Given the description of an element on the screen output the (x, y) to click on. 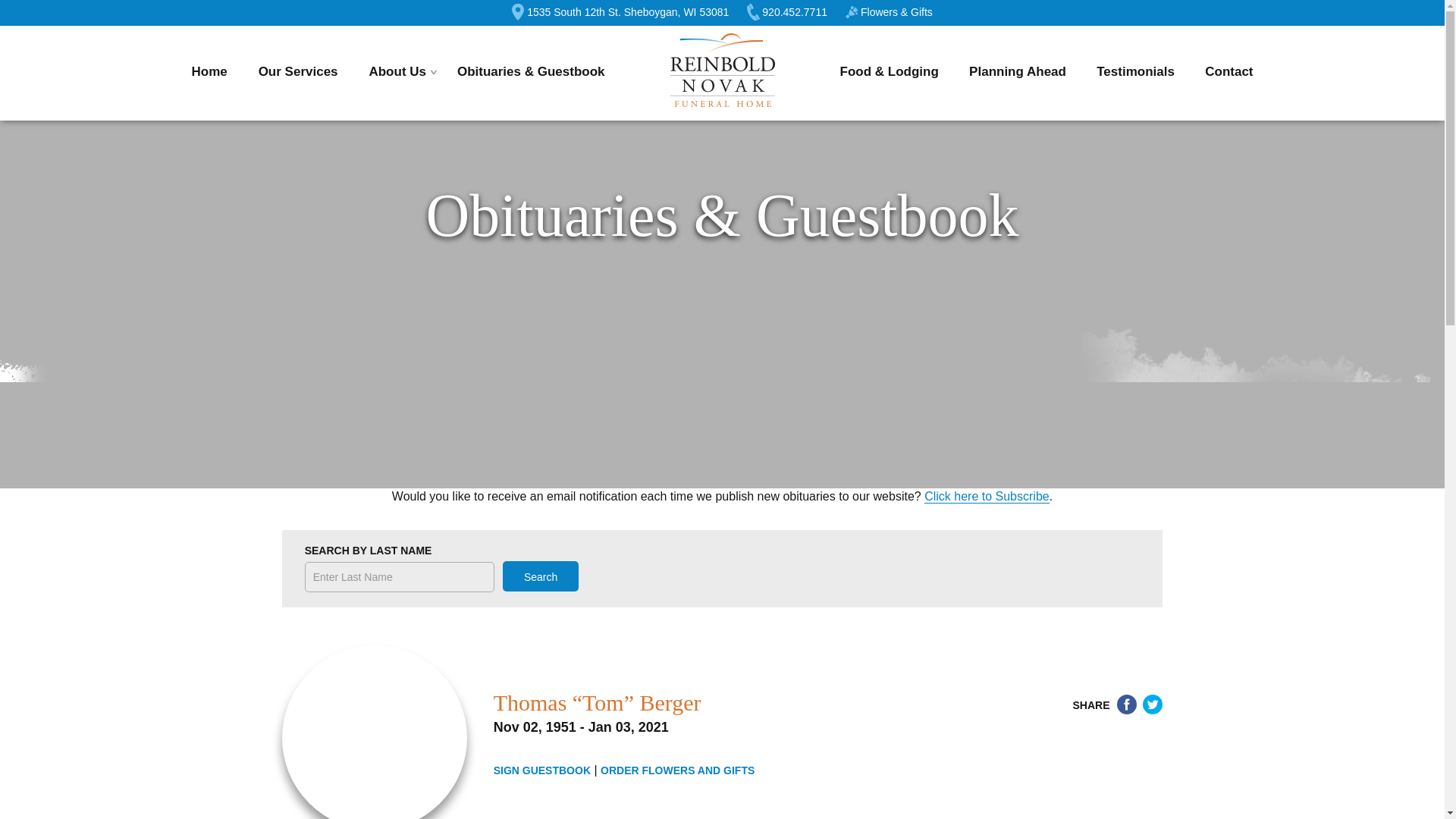
920.452.7711 (786, 12)
SIGN GUESTBOOK (542, 770)
Search (540, 576)
Home (208, 71)
1535 South 12th St. Sheboygan, WI 53081 (620, 12)
Our Services (298, 71)
Testimonials (1135, 71)
Search (540, 576)
ORDER FLOWERS AND GIFTS (676, 770)
About Us (397, 71)
Contact (1228, 71)
Planning Ahead (1017, 71)
Click here to Subscribe (986, 496)
